Given the description of an element on the screen output the (x, y) to click on. 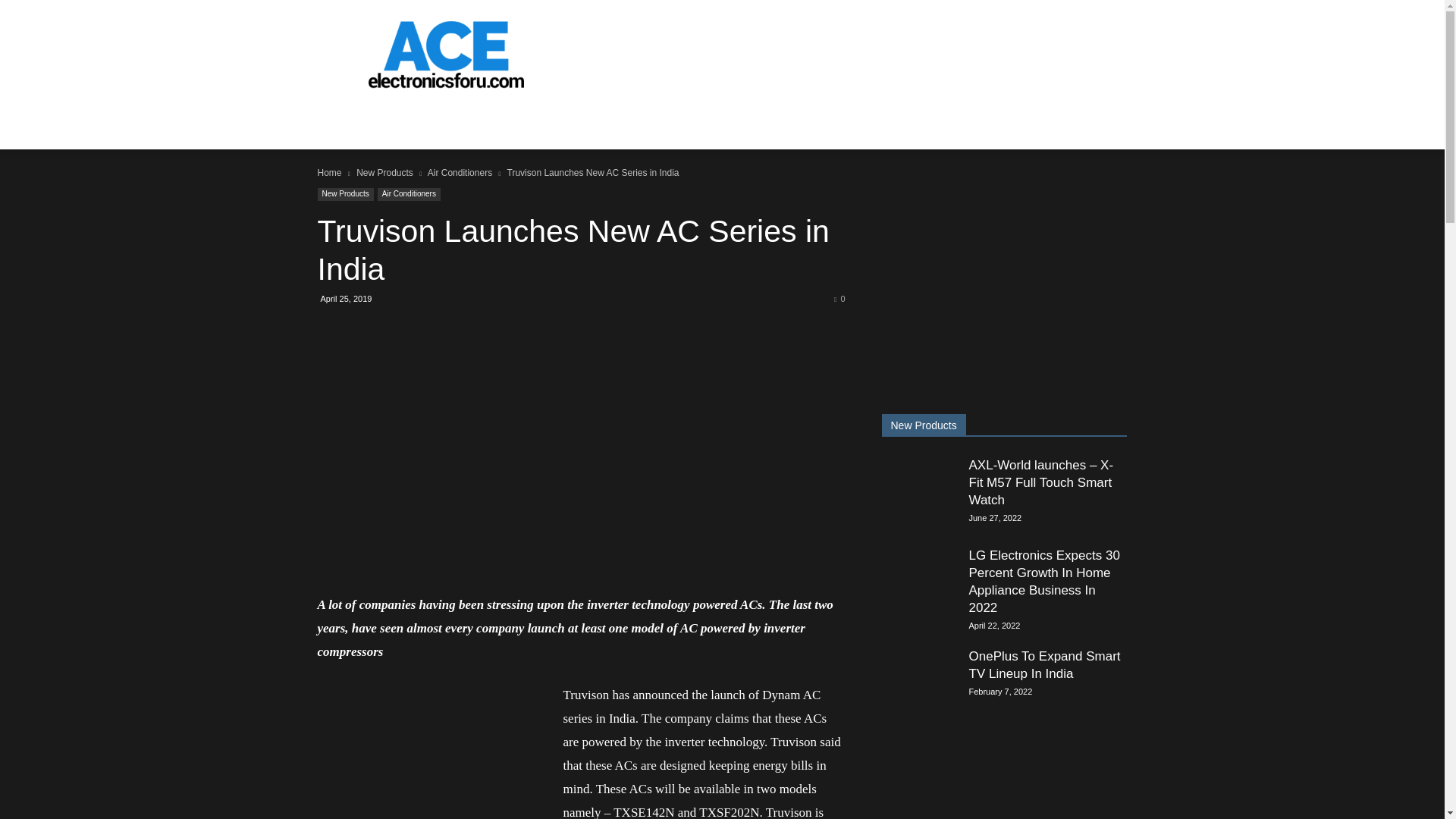
3rd party ad content (850, 55)
CHANNEL (360, 122)
